Given the description of an element on the screen output the (x, y) to click on. 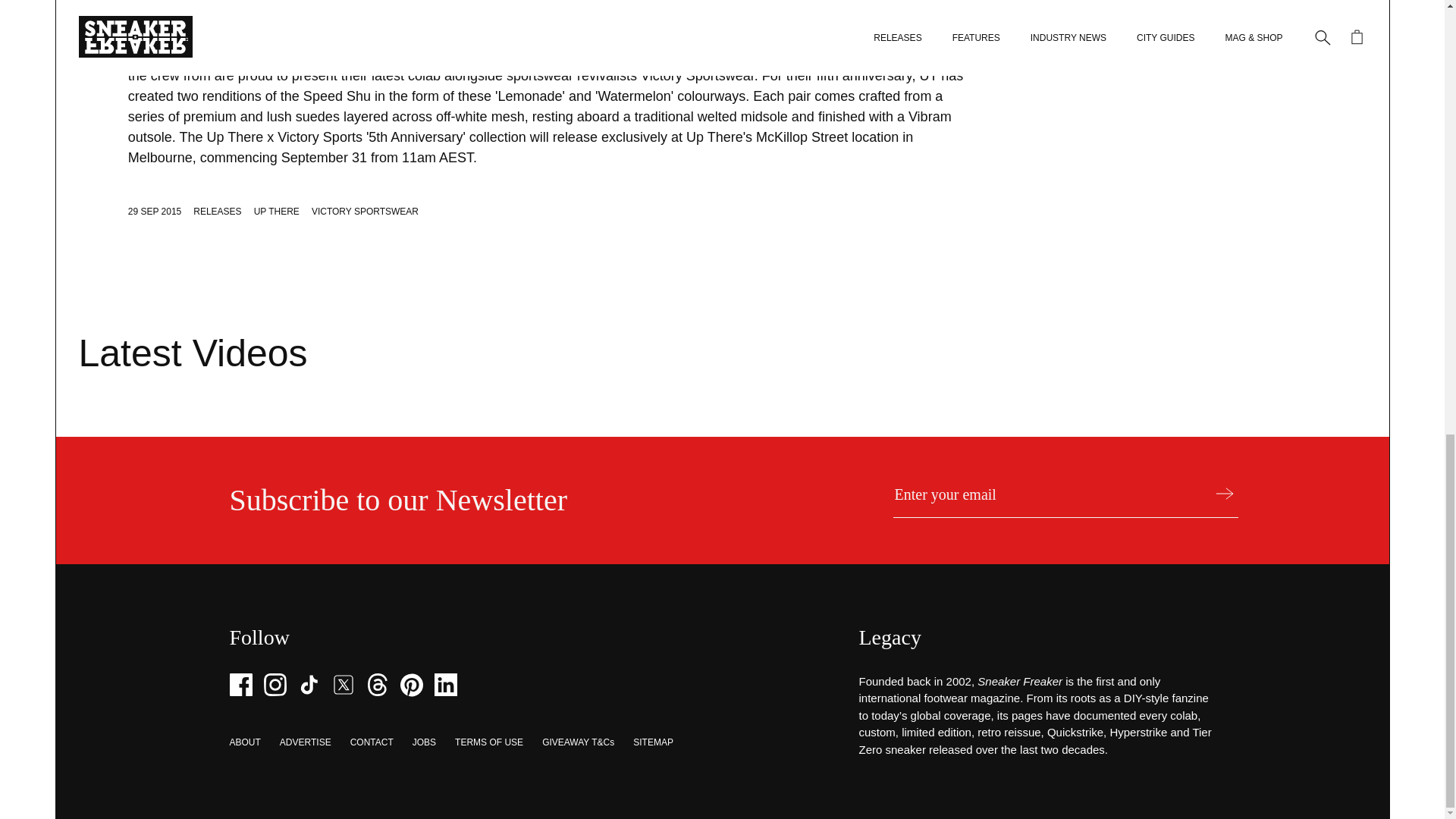
RELEASES (217, 211)
CONTACT (371, 742)
ADVERTISE (305, 742)
SITEMAP (652, 742)
JOBS (423, 742)
TERMS OF USE (488, 742)
VICTORY SPORTSWEAR (365, 211)
ABOUT (244, 742)
UP THERE (276, 211)
